Given the description of an element on the screen output the (x, y) to click on. 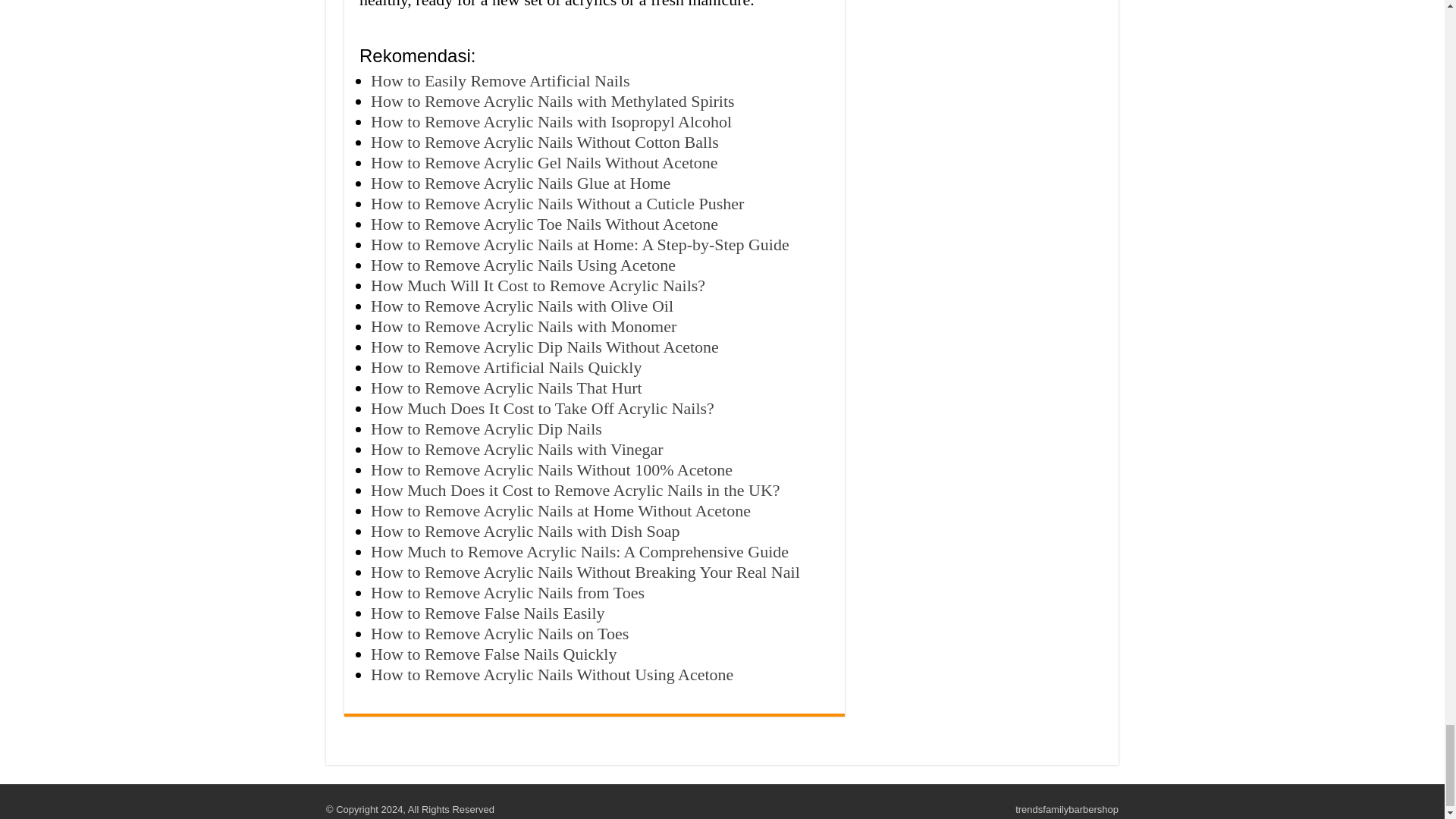
How to Remove Acrylic Nails at Home: A Step-by-Step Guide (580, 244)
How to Remove Acrylic Gel Nails Without Acetone (544, 162)
How to Remove Acrylic Nails with Methylated Spirits (553, 99)
How to Remove Acrylic Nails Without a Cuticle Pusher (557, 203)
How to Remove Acrylic Nails Without Cotton Balls (545, 140)
How to Remove Acrylic Nails Glue at Home (520, 181)
How to Easily Remove Artificial Nails (500, 80)
How to Remove Acrylic Toe Nails Without Acetone (544, 222)
How to Remove Acrylic Nails with Isopropyl Alcohol (551, 121)
